Given the description of an element on the screen output the (x, y) to click on. 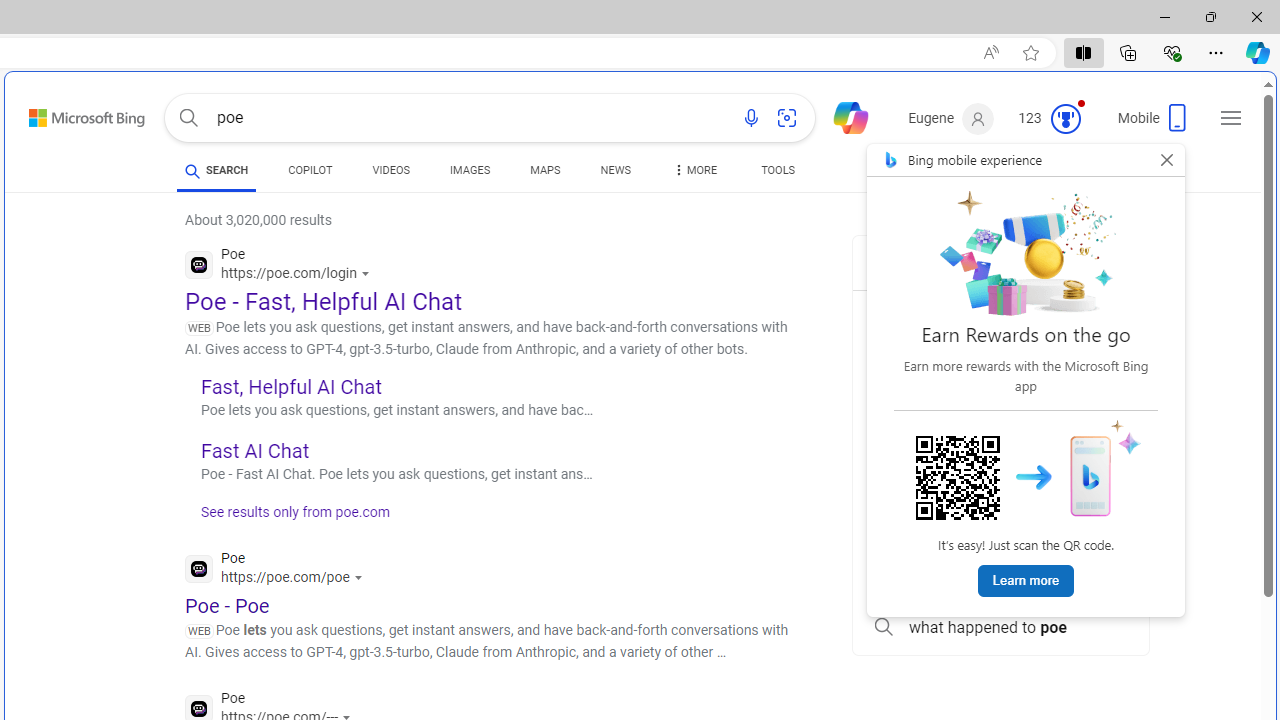
MAPS (545, 173)
Search using an image (787, 117)
SEARCH (216, 170)
IMAGES (470, 173)
Eugene (950, 119)
VIDEOS (390, 173)
Search button (188, 117)
Chat (842, 116)
Settings and quick links (1231, 117)
See results only from poe.com (287, 517)
